Given the description of an element on the screen output the (x, y) to click on. 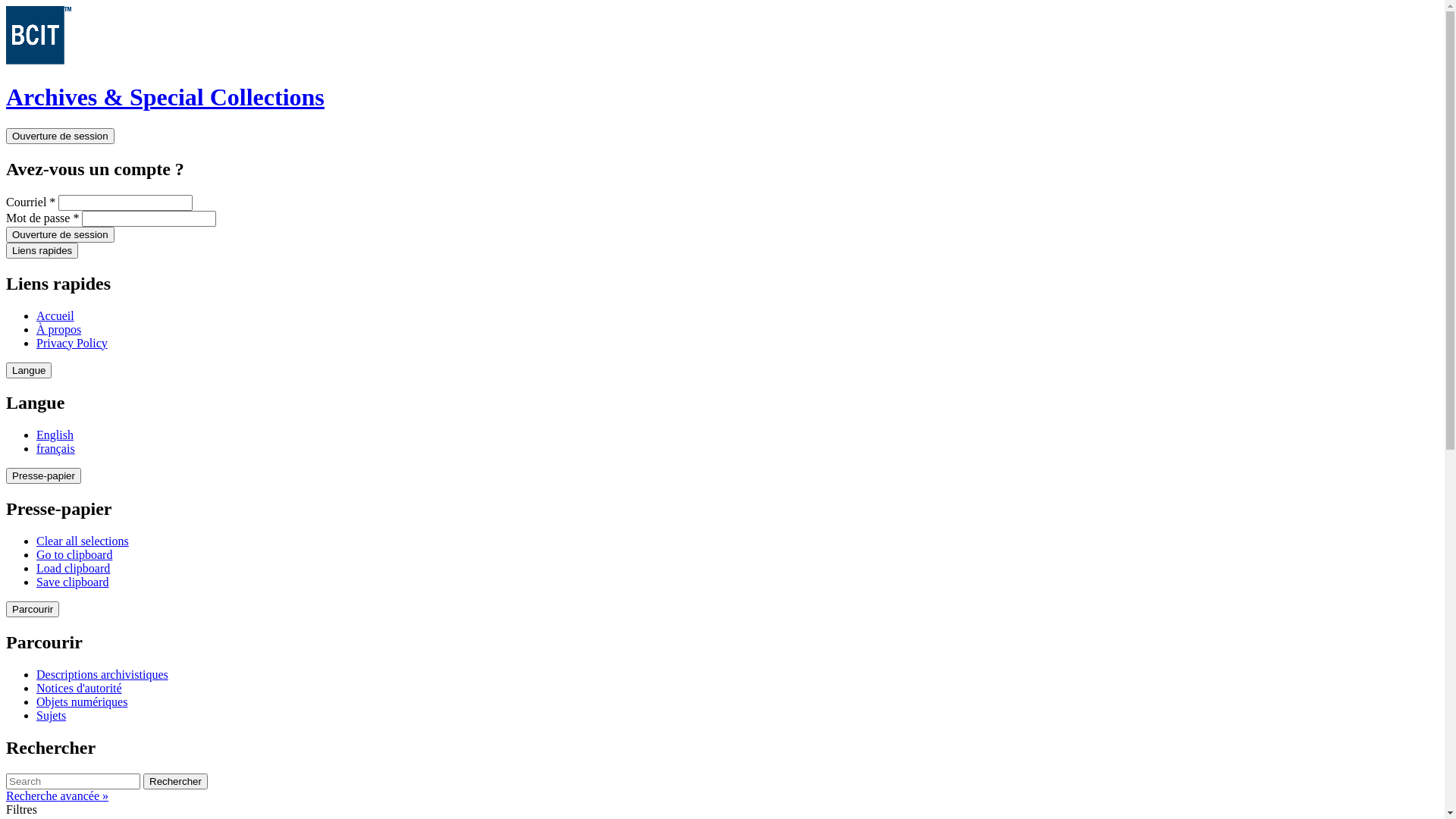
Clear all selections Element type: text (82, 540)
Filtres Element type: text (21, 809)
Presse-papier Element type: text (43, 475)
Ouverture de session Element type: text (60, 234)
Langue Element type: text (28, 370)
English Element type: text (54, 434)
Privacy Policy Element type: text (71, 342)
Go to clipboard Element type: text (74, 554)
Liens rapides Element type: text (42, 250)
Rechercher Element type: text (175, 781)
Accueil Element type: text (55, 315)
Sujets Element type: text (50, 715)
Load clipboard Element type: text (72, 567)
Ouverture de session Element type: text (60, 136)
Save clipboard Element type: text (72, 581)
Parcourir Element type: text (32, 609)
Descriptions archivistiques Element type: text (102, 674)
Archives & Special Collections Element type: text (165, 96)
